Given the description of an element on the screen output the (x, y) to click on. 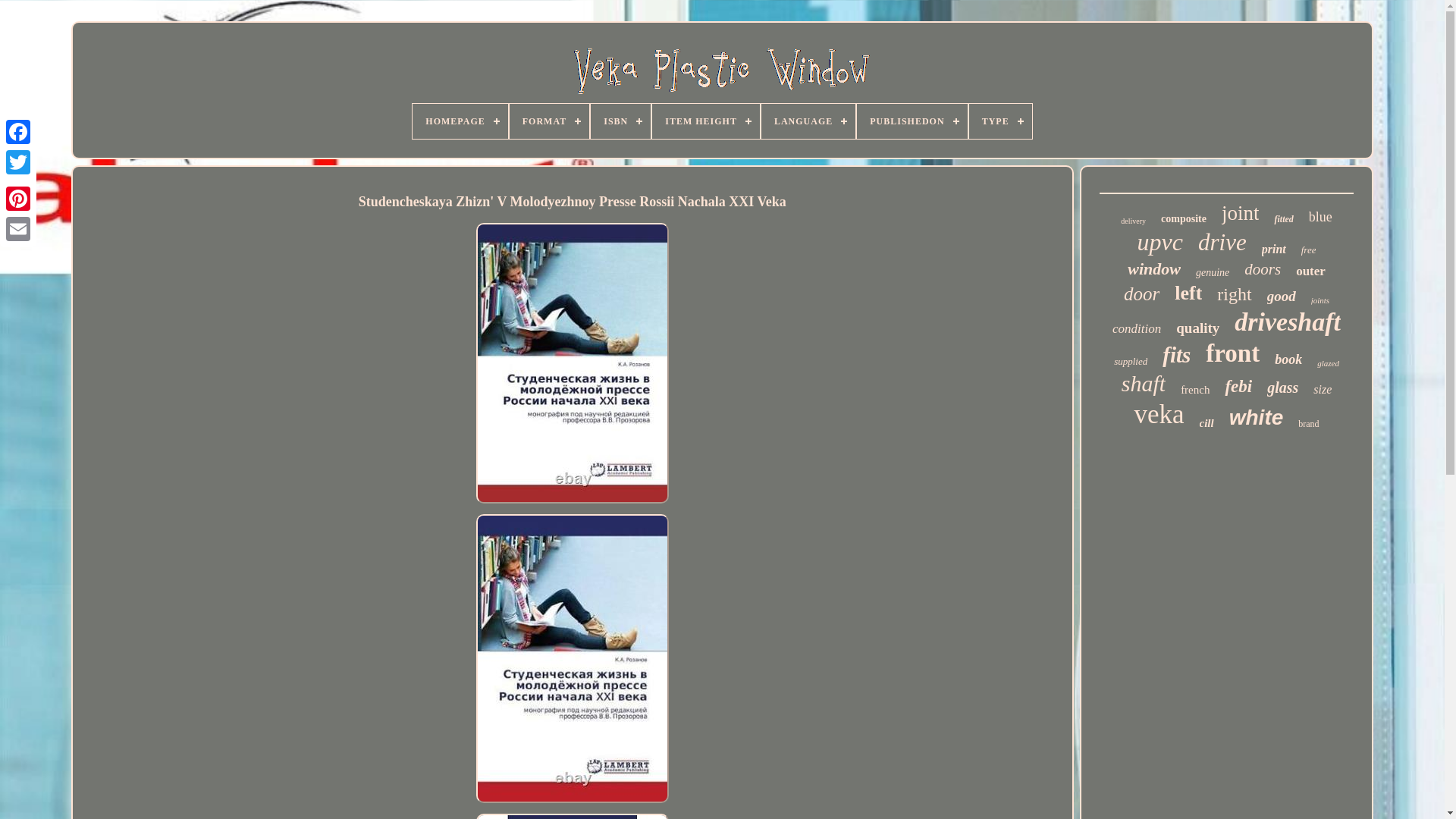
ISBN (620, 121)
HOMEPAGE (459, 121)
FORMAT (549, 121)
ITEM HEIGHT (706, 121)
